Given the description of an element on the screen output the (x, y) to click on. 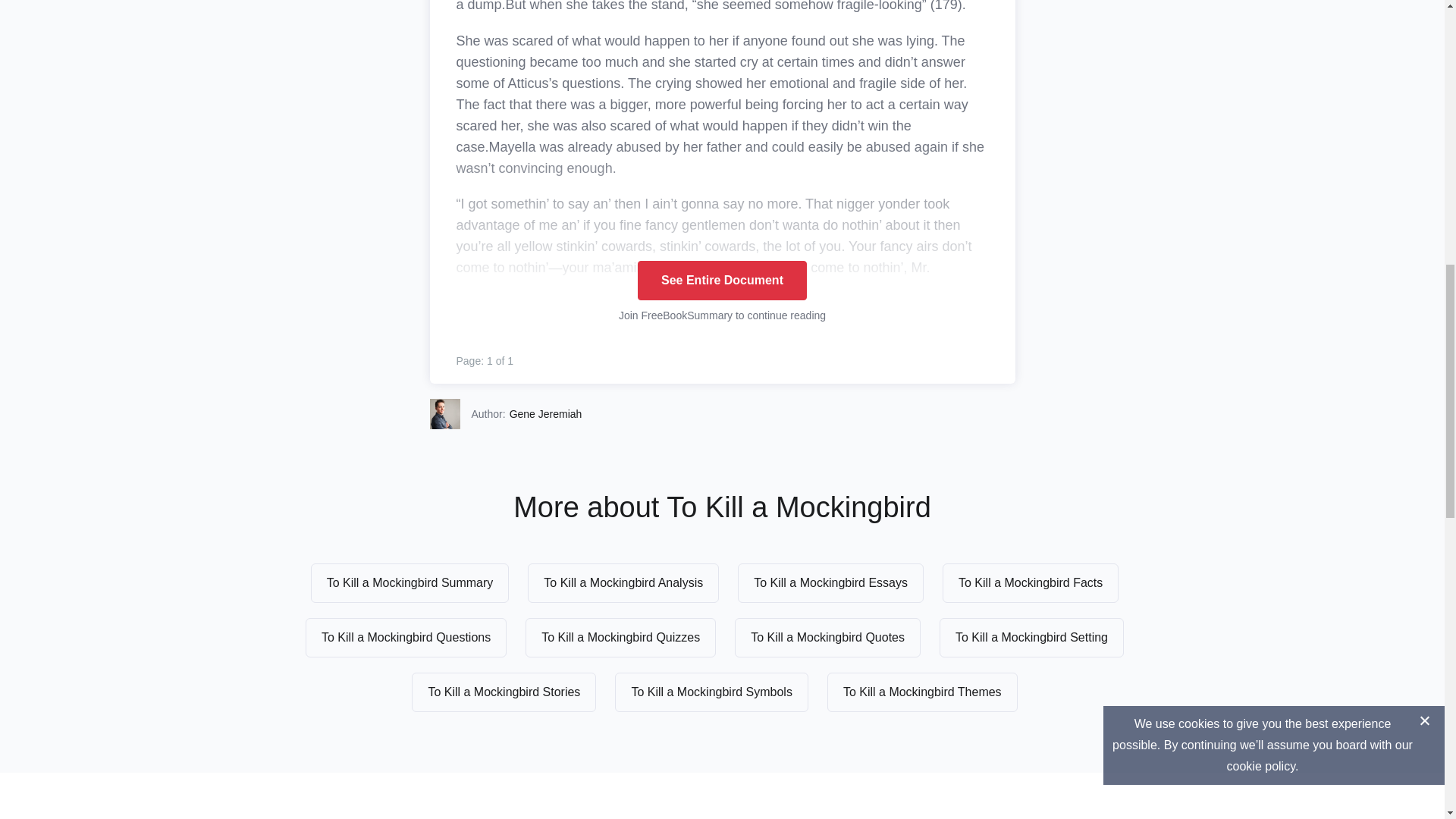
To Kill a Mockingbird Essays (830, 582)
To Kill a Mockingbird Questions (405, 637)
To Kill a Mockingbird Quizzes (620, 637)
To Kill a Mockingbird Setting (1031, 637)
To Kill a Mockingbird Summary (410, 582)
To Kill a Mockingbird Themes (922, 691)
To Kill a Mockingbird Symbols (711, 691)
To Kill a Mockingbird Stories (503, 691)
To Kill a Mockingbird Quotes (827, 637)
To Kill a Mockingbird Analysis (623, 582)
